Given the description of an element on the screen output the (x, y) to click on. 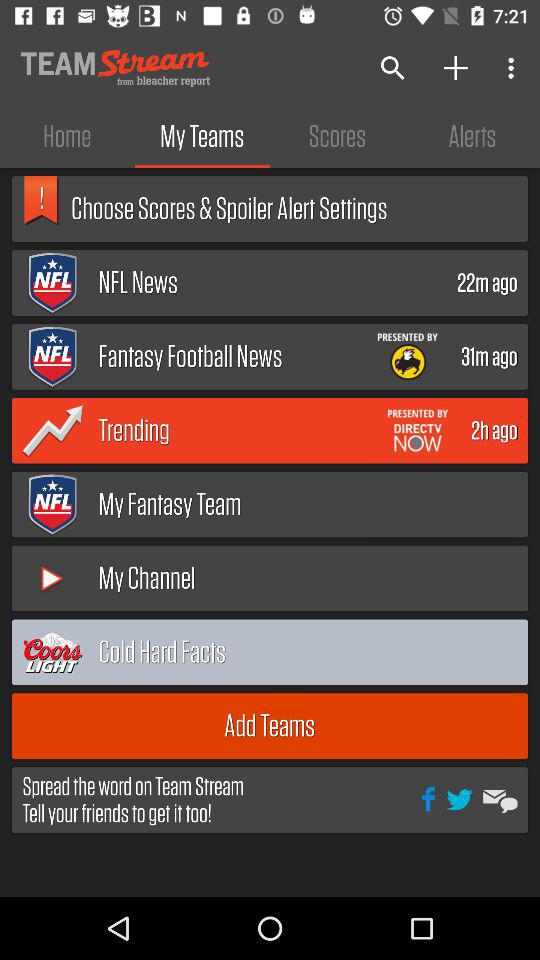
open advertisement (417, 430)
